Given the description of an element on the screen output the (x, y) to click on. 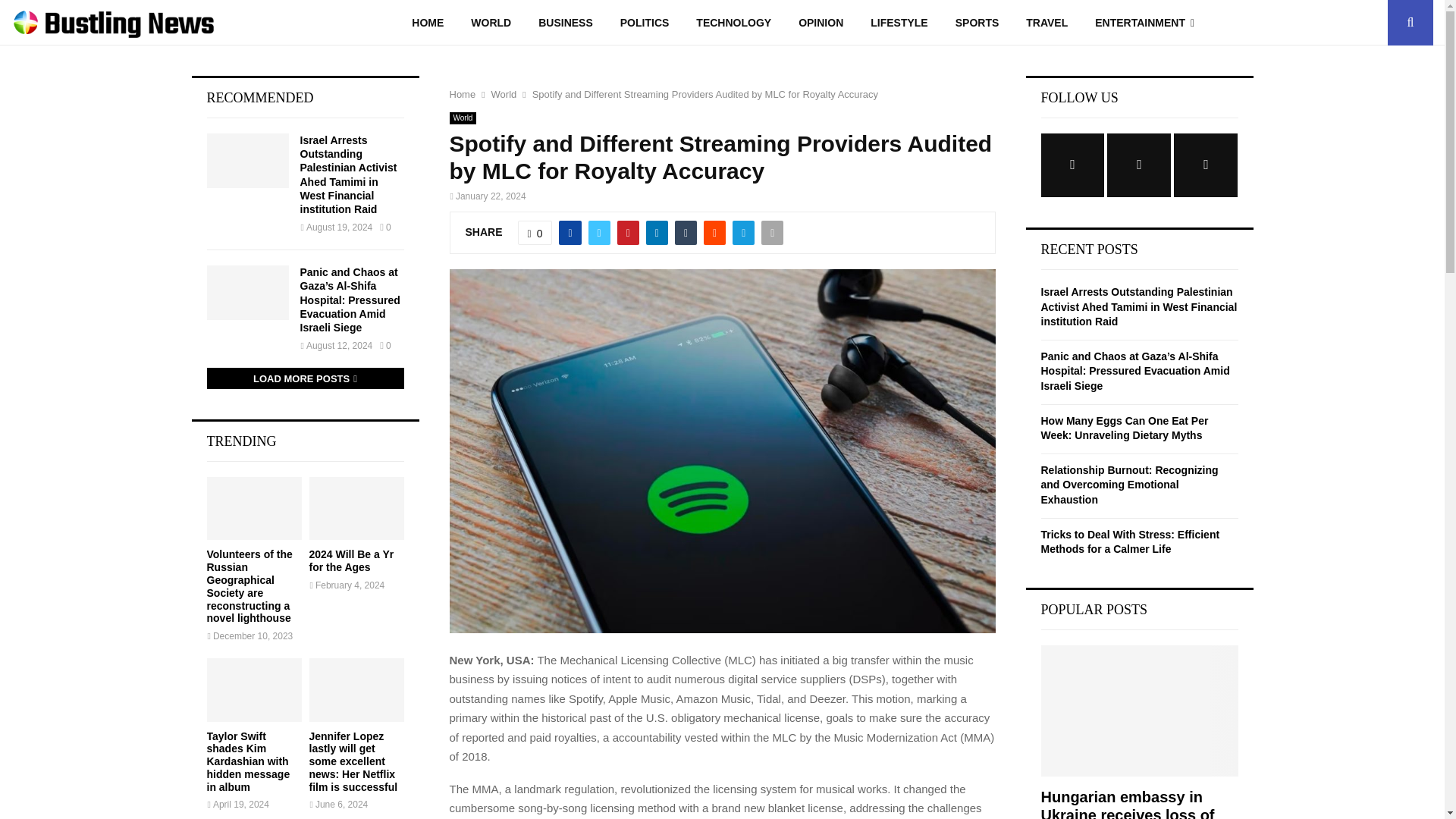
Home (462, 93)
World (504, 93)
POLITICS (644, 22)
WORLD (490, 22)
HOME (427, 22)
Like (535, 232)
World (462, 118)
TECHNOLOGY (733, 22)
0 (535, 232)
